Given the description of an element on the screen output the (x, y) to click on. 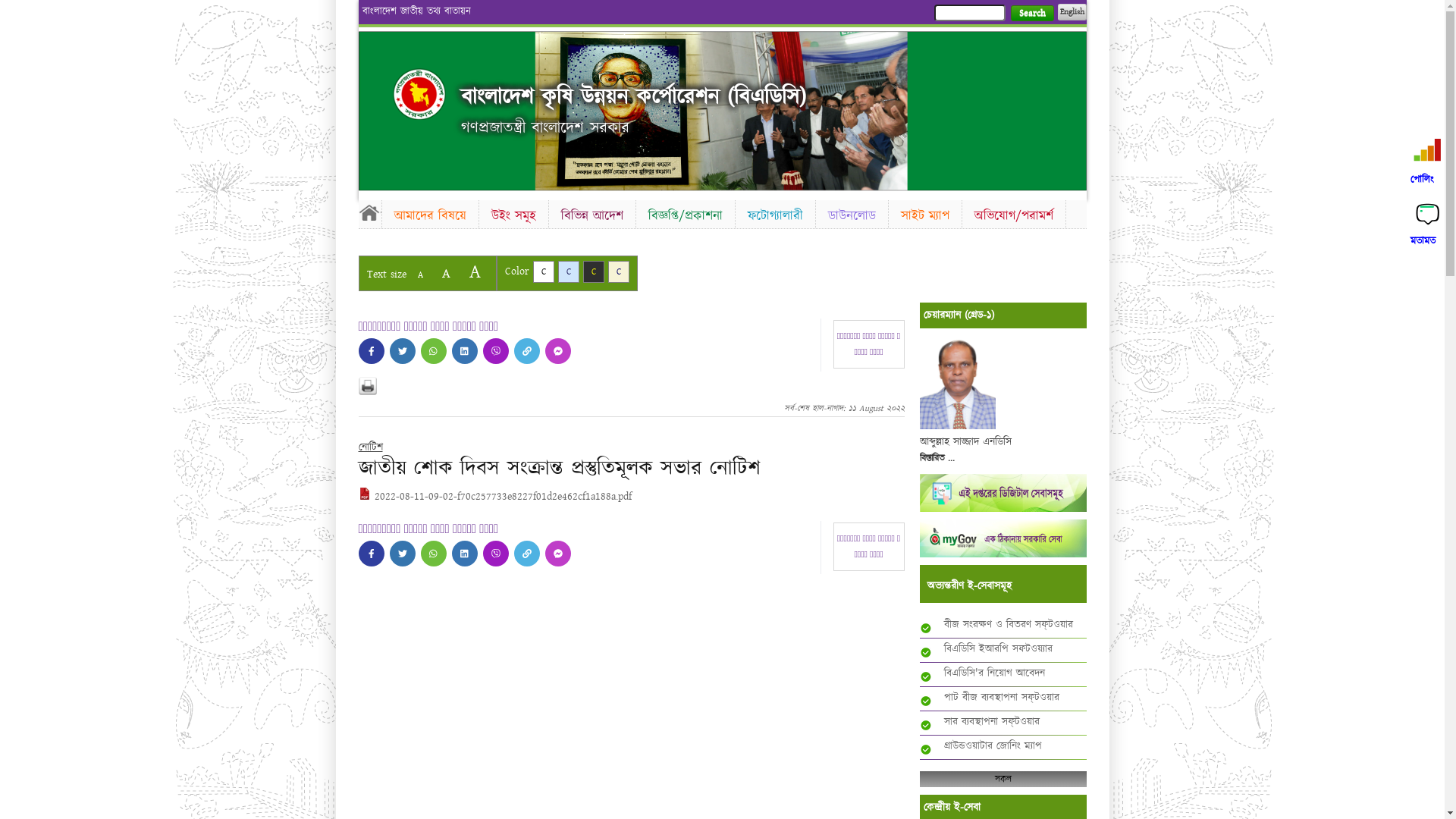
A Element type: text (419, 274)
Home Element type: hover (418, 93)
2022-08-11-09-02-f70c257733e8227f01d2e462cf1a188a.pdf Element type: text (493, 496)
A Element type: text (445, 273)
A Element type: text (474, 271)
C Element type: text (618, 271)
Home Element type: hover (368, 211)
Search Element type: text (1031, 13)
C Element type: text (592, 271)
C Element type: text (568, 271)
C Element type: text (542, 271)
English Element type: text (1071, 11)
